Given the description of an element on the screen output the (x, y) to click on. 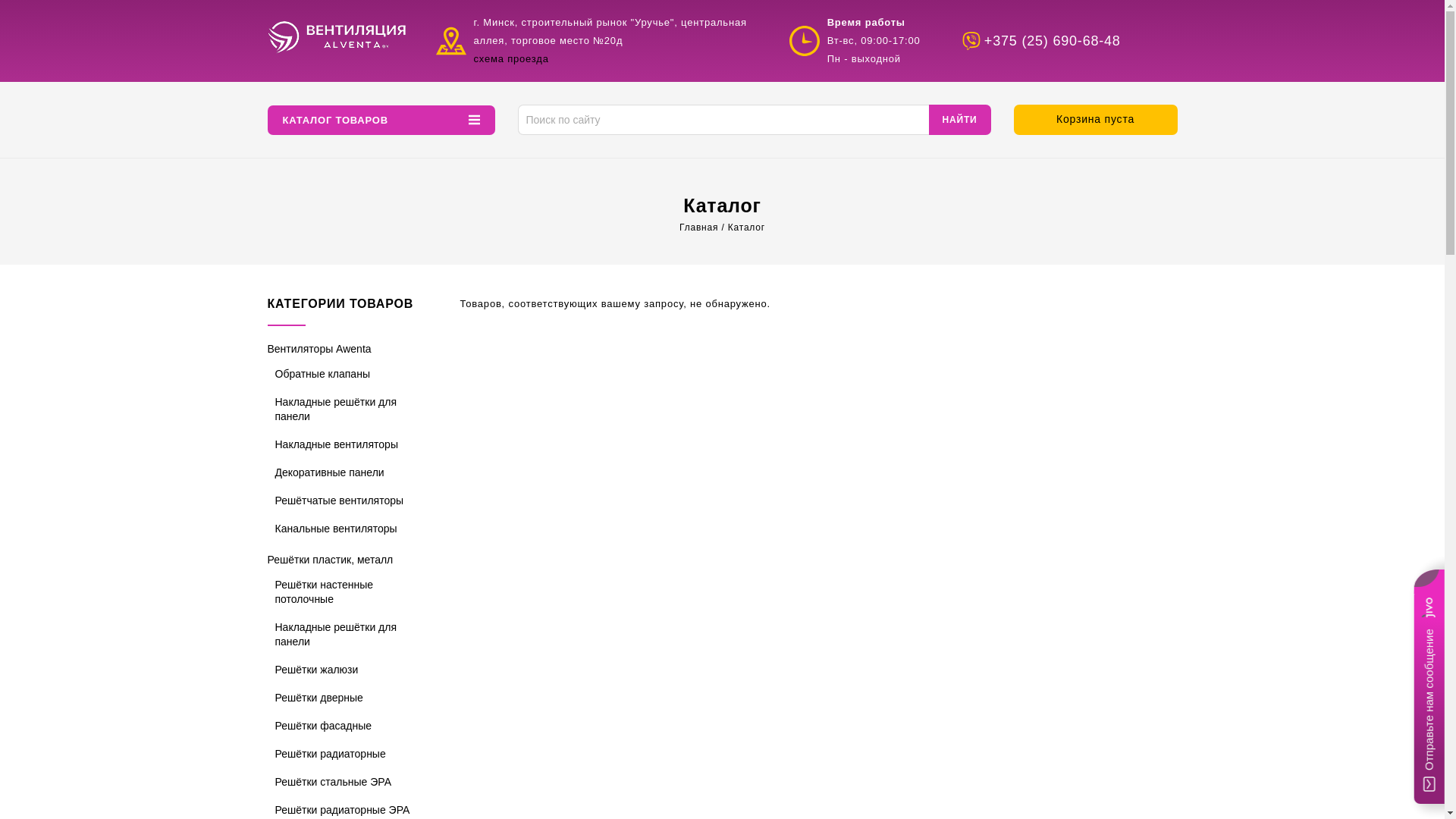
+375 (25) 690-68-48 Element type: text (1069, 40)
